Given the description of an element on the screen output the (x, y) to click on. 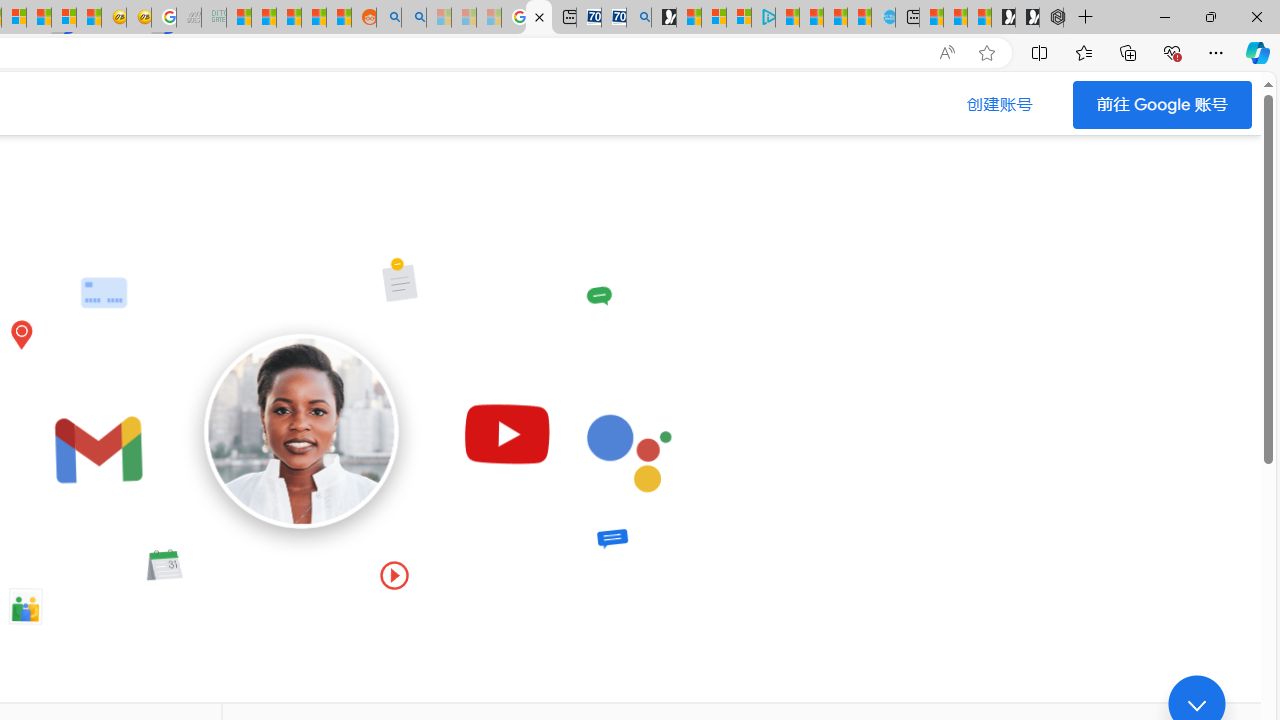
Bing Real Estate - Home sales and rental listings (639, 17)
